Given the description of an element on the screen output the (x, y) to click on. 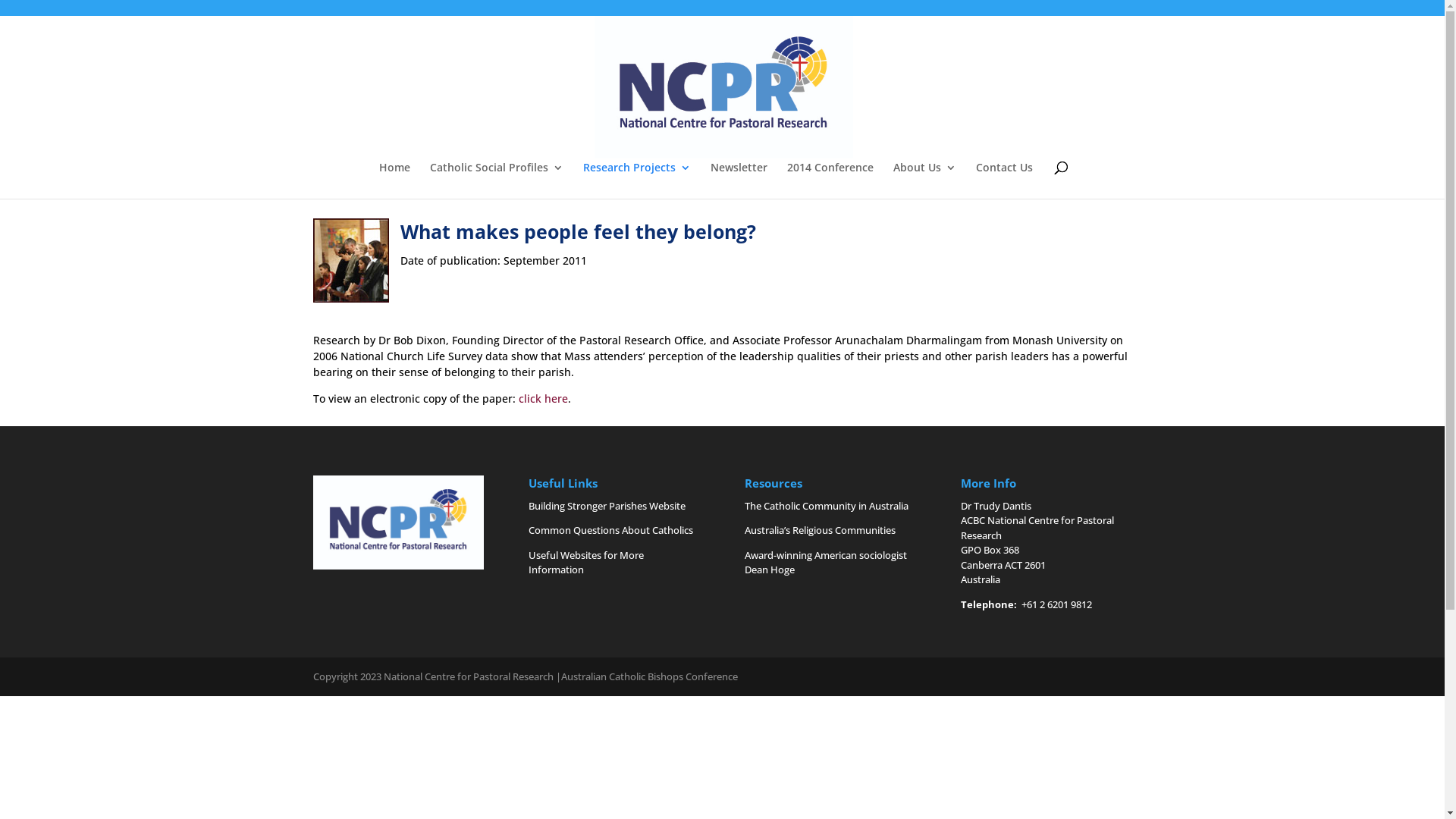
Research Projects Element type: text (636, 180)
Home Element type: text (394, 180)
2014 Conference Element type: text (830, 180)
+61 2 6201 9812 Element type: text (1056, 604)
click here Element type: text (542, 398)
Award-winning American sociologist Dean Hoge Element type: text (825, 562)
Building Stronger Parishes Website Element type: text (606, 505)
Useful Websites for More Information Element type: text (585, 562)
Newsletter Element type: text (737, 180)
Catholic Social Profiles Element type: text (495, 180)
The Catholic Community in Australia Element type: text (826, 505)
About Us Element type: text (924, 180)
Contact Us Element type: text (1003, 180)
Common Questions About Catholics Element type: text (610, 529)
